Given the description of an element on the screen output the (x, y) to click on. 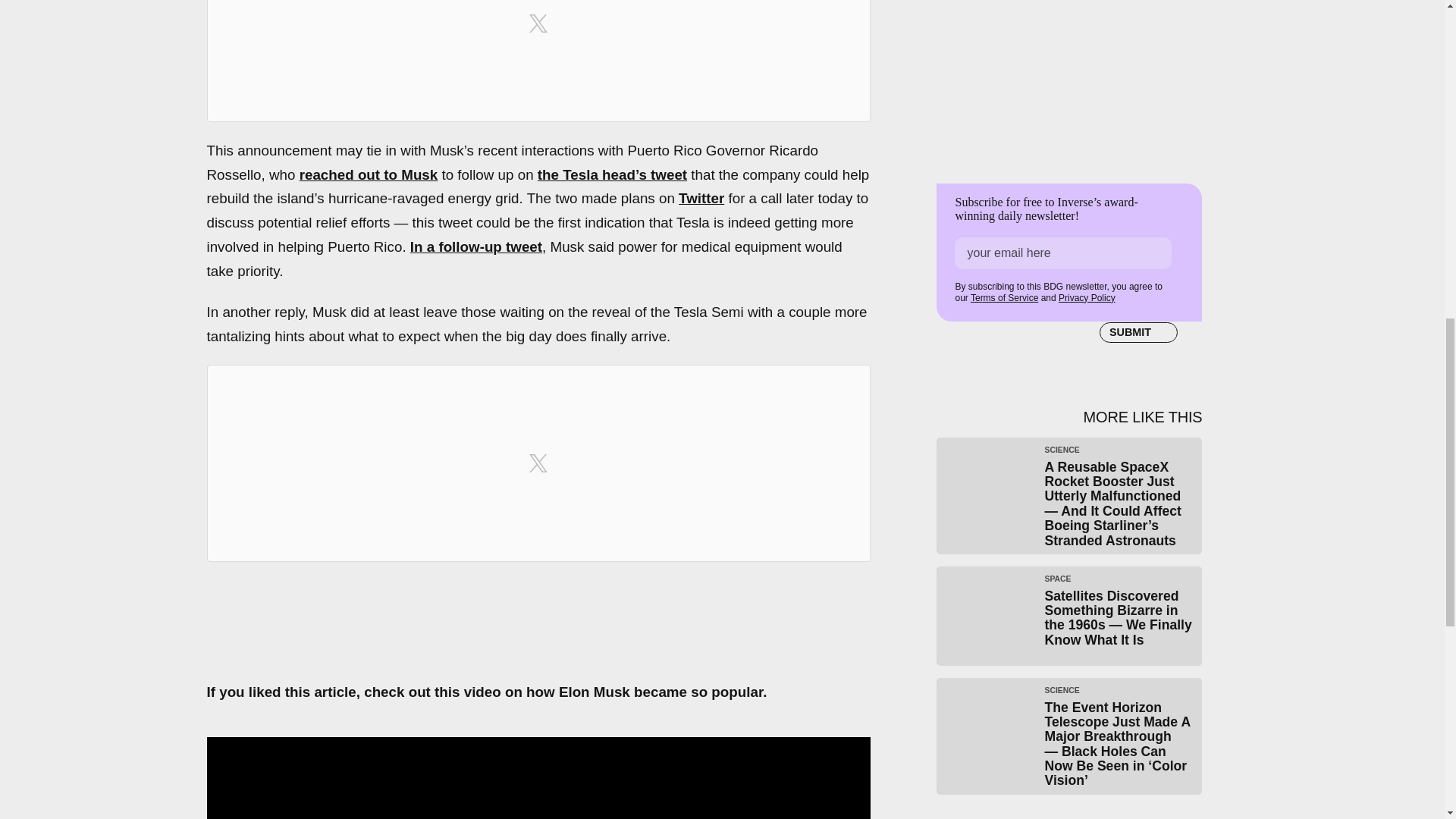
SUBMIT (1138, 332)
Privacy Policy (1086, 297)
In a follow-up tweet (475, 246)
Twitter (700, 198)
Terms of Service (1004, 297)
reached out to Musk (368, 174)
